Given the description of an element on the screen output the (x, y) to click on. 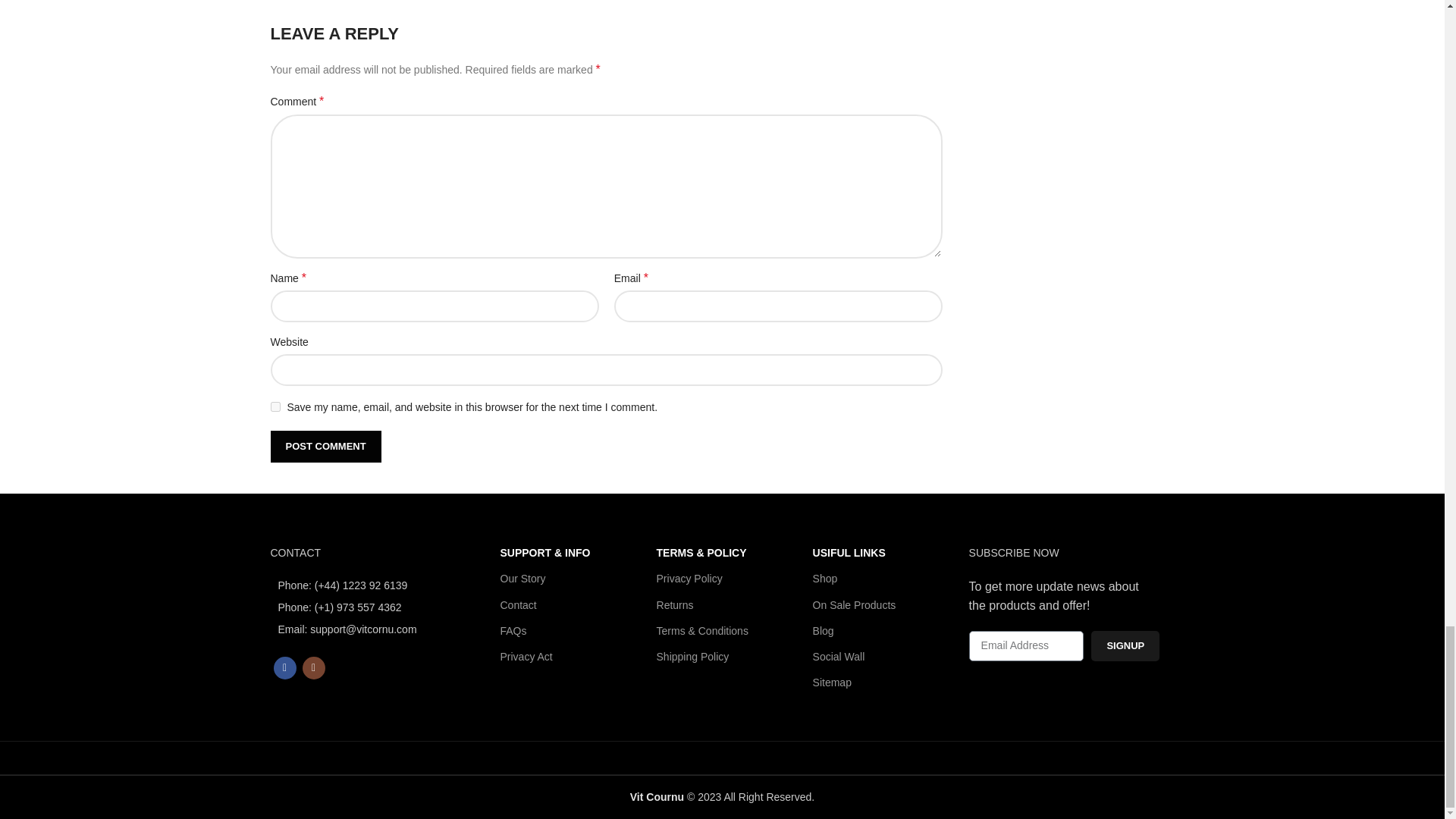
Post Comment (324, 446)
Post Comment (324, 446)
yes (274, 406)
